Given the description of an element on the screen output the (x, y) to click on. 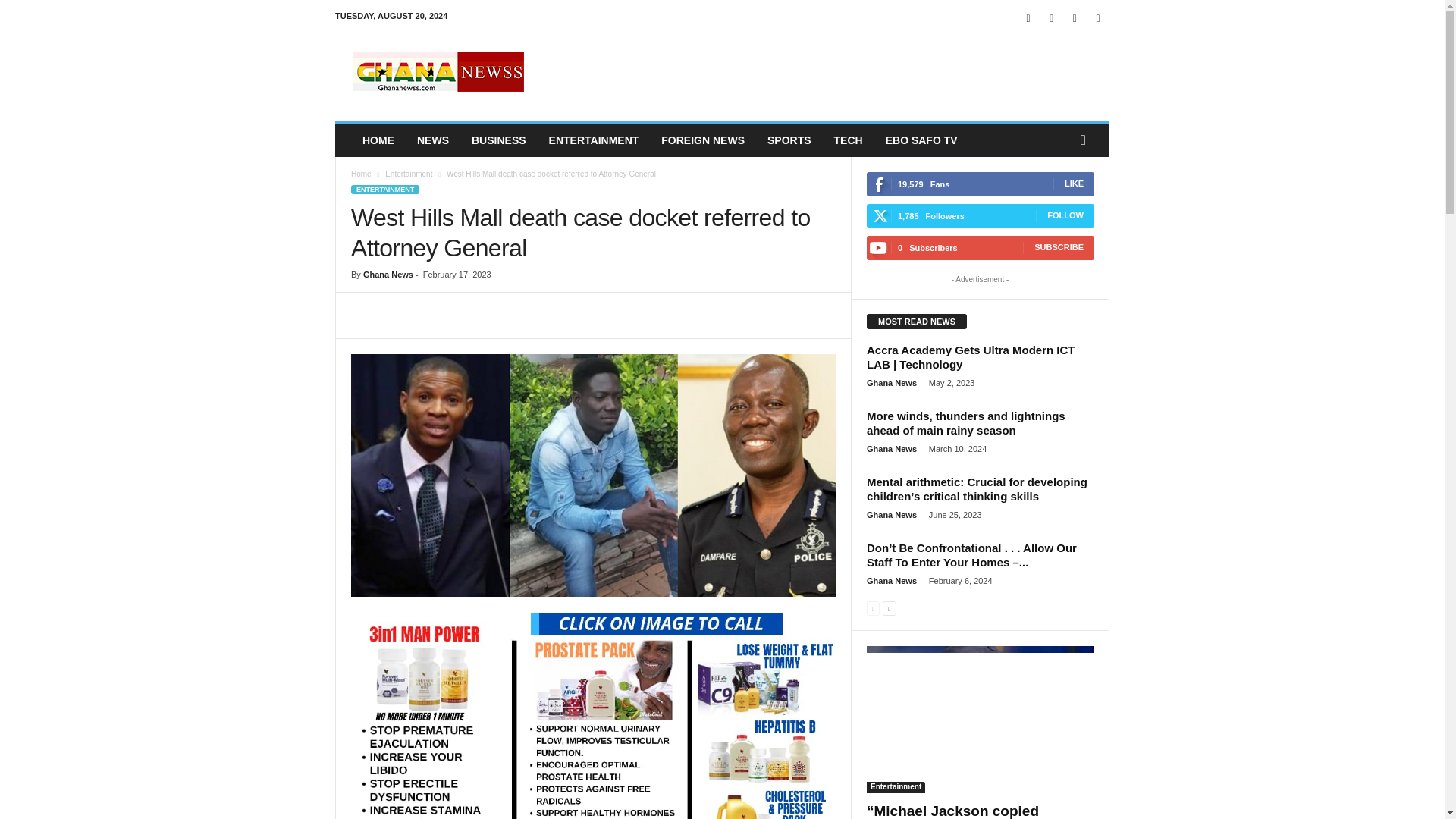
Ghana Latest News (437, 70)
BUSINESS (498, 140)
View all posts in Entertainment (408, 173)
Ghana News (387, 274)
EBO SAFO TV (922, 140)
Home (360, 173)
ENTERTAINMENT (384, 189)
Entertainment (408, 173)
TECH (848, 140)
HOME (378, 140)
